Given the description of an element on the screen output the (x, y) to click on. 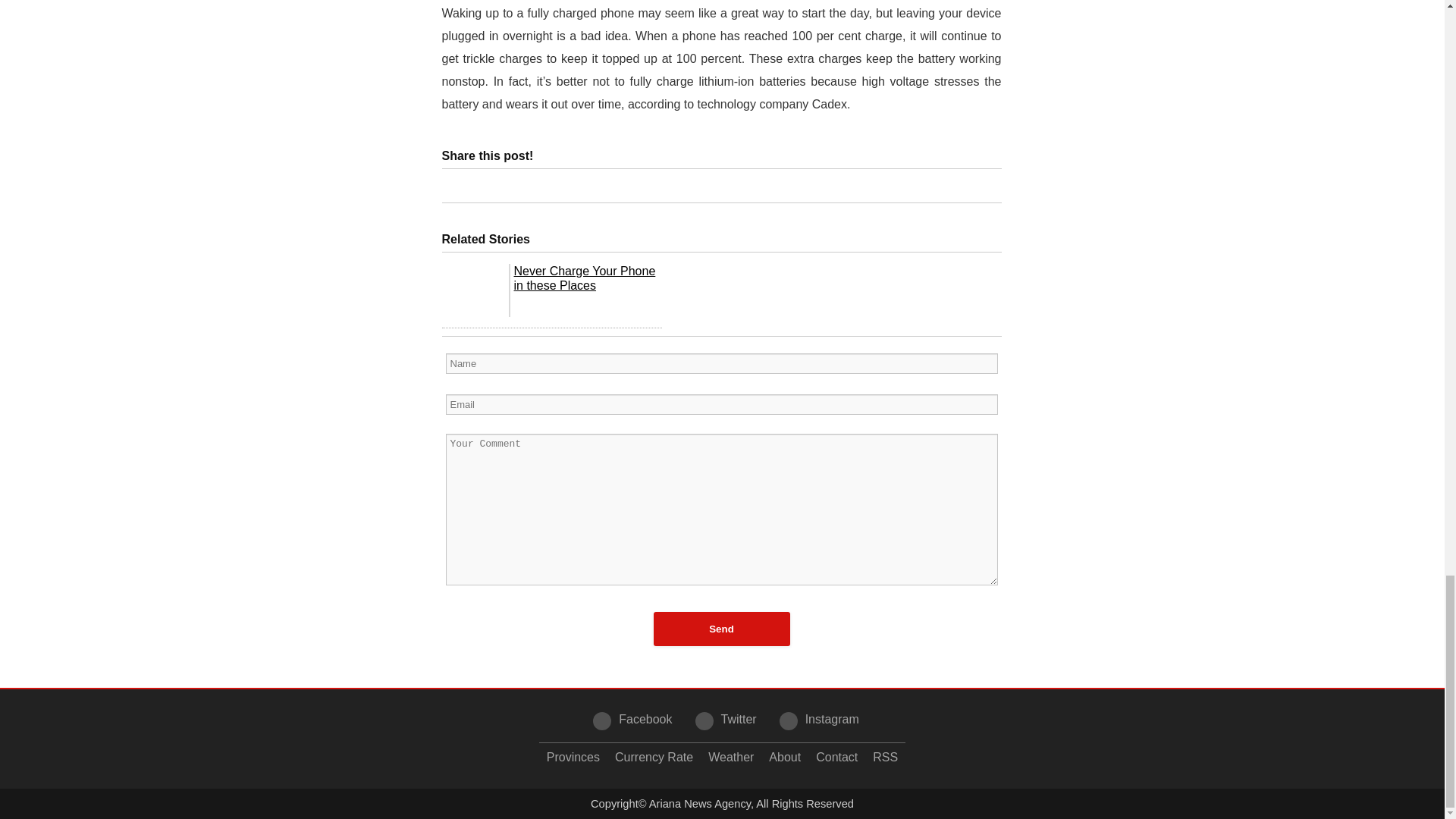
Provinces (573, 757)
Send (721, 628)
Facebook (644, 718)
Twitter (737, 718)
About (784, 757)
Never Charge Your Phone in these Places (584, 277)
Currency Rate (653, 757)
Instagram (832, 718)
Weather (730, 757)
